Given the description of an element on the screen output the (x, y) to click on. 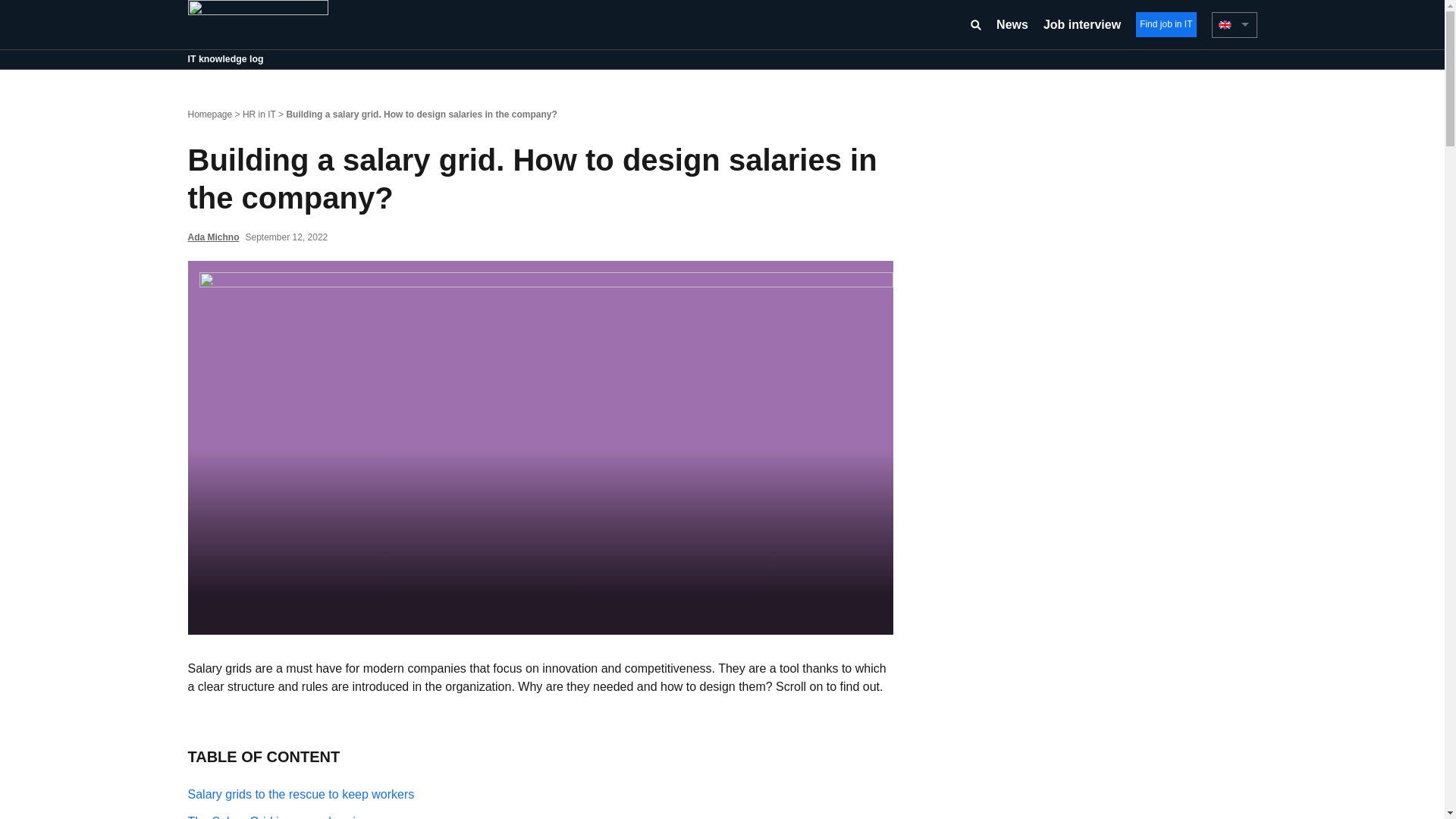
Ada Michno (213, 237)
Find job in IT (1165, 24)
Homepage (209, 113)
Job interview (1082, 24)
HR in IT (259, 113)
Home (258, 23)
Search (975, 24)
